Given the description of an element on the screen output the (x, y) to click on. 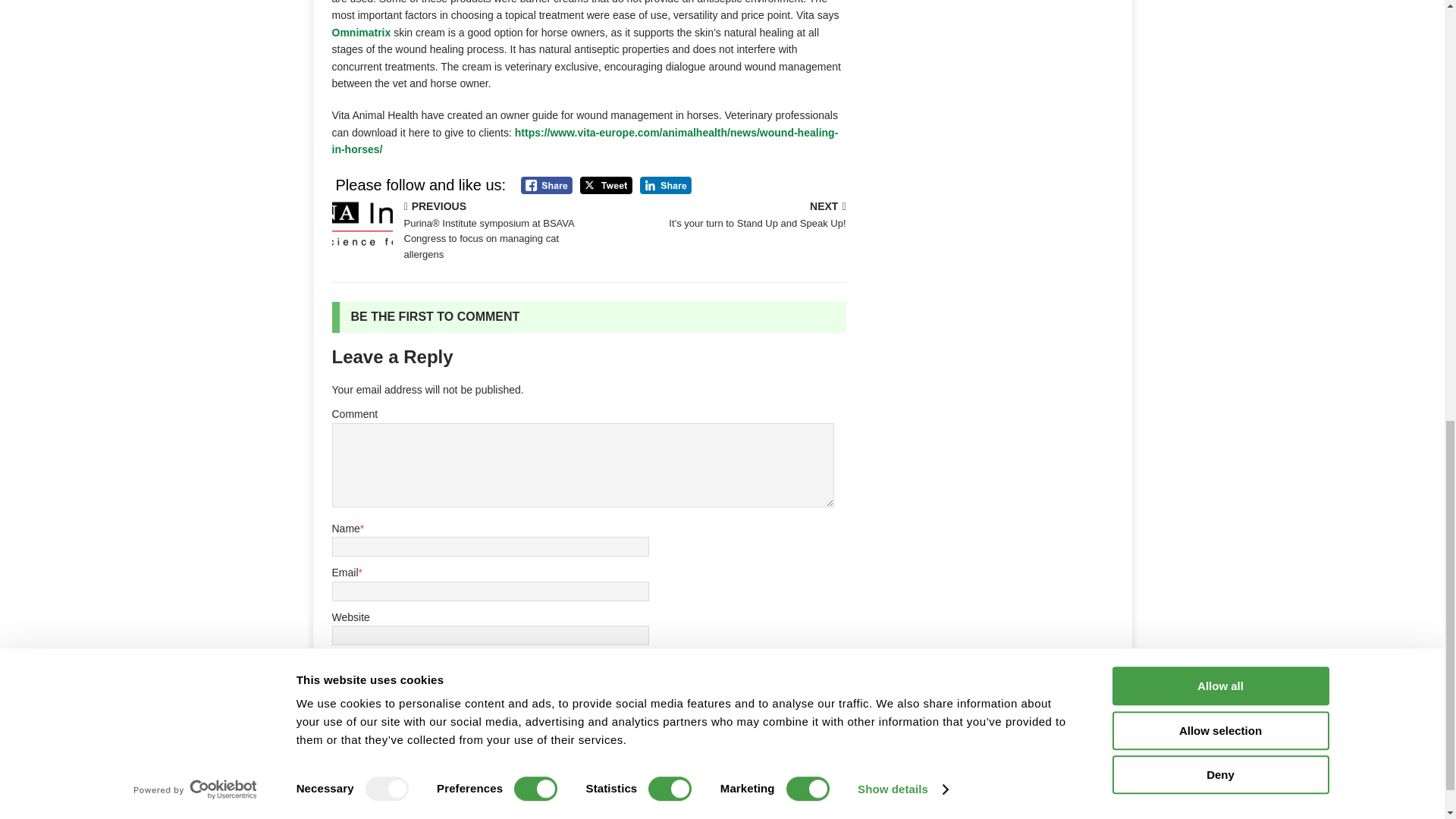
Facebook Share (546, 185)
Tweet (605, 185)
Post Comment (388, 701)
Share (665, 185)
yes (339, 662)
